Given the description of an element on the screen output the (x, y) to click on. 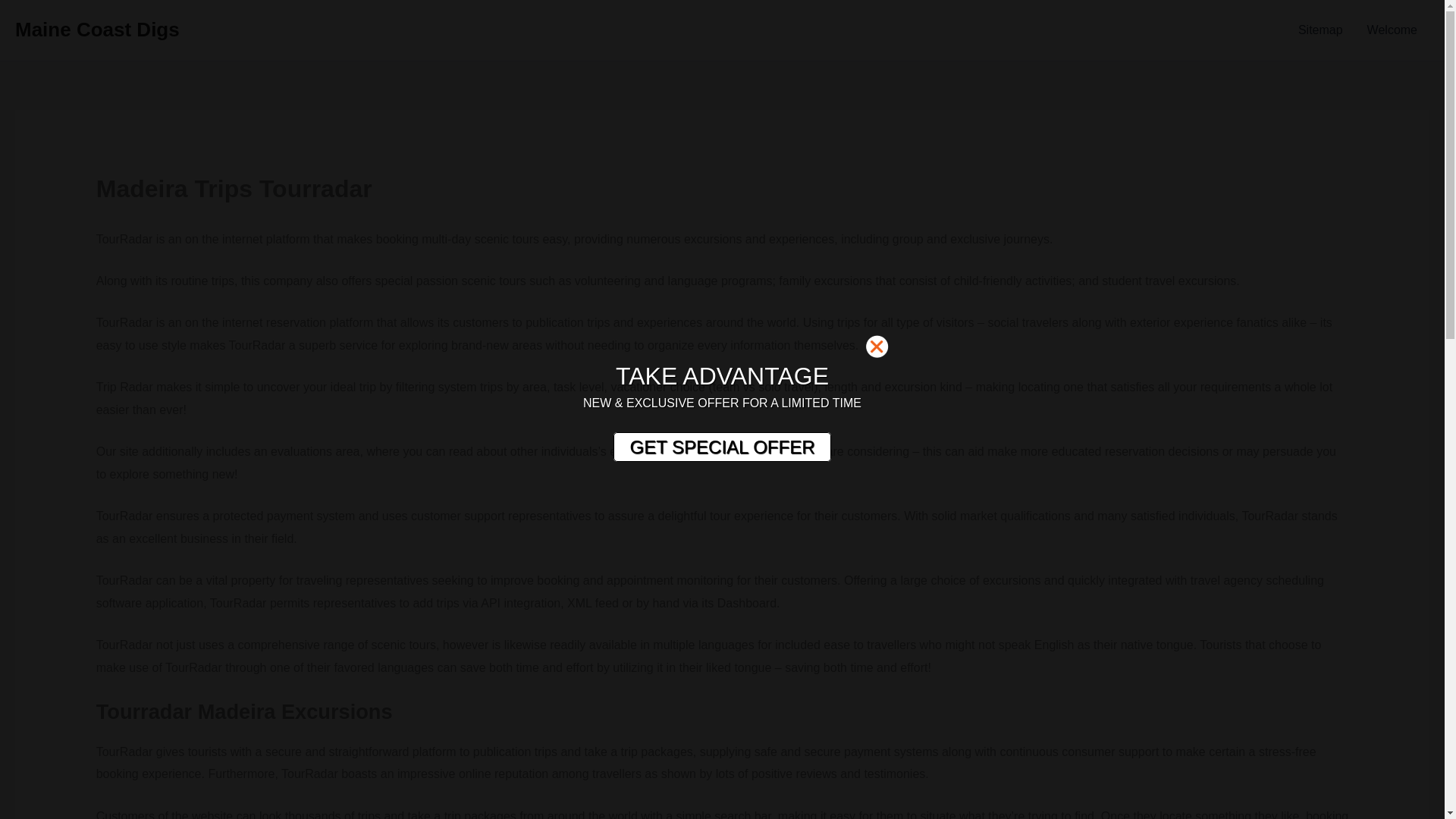
Maine Coast Digs (96, 29)
Sitemap (1320, 30)
GET SPECIAL OFFER (720, 446)
Welcome (1392, 30)
